Given the description of an element on the screen output the (x, y) to click on. 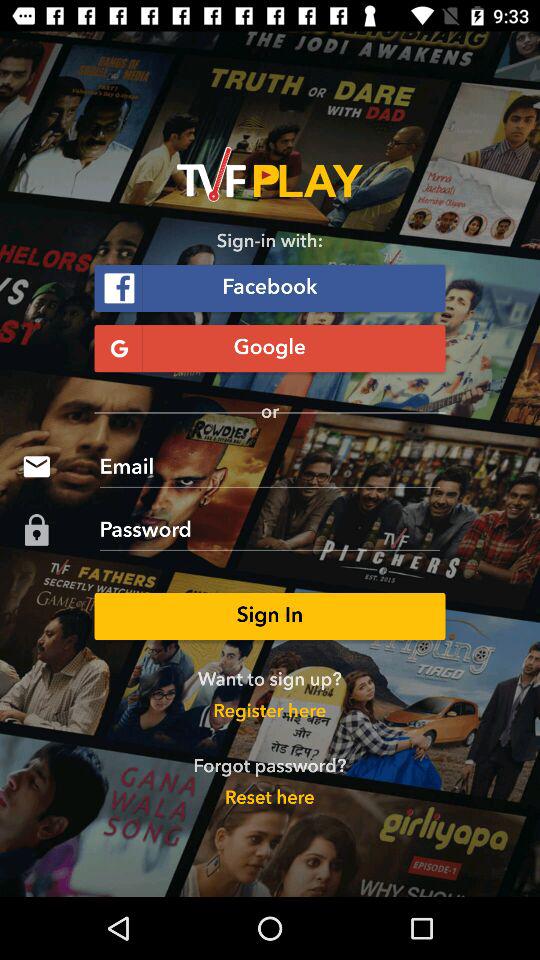
press register here item (269, 711)
